Given the description of an element on the screen output the (x, y) to click on. 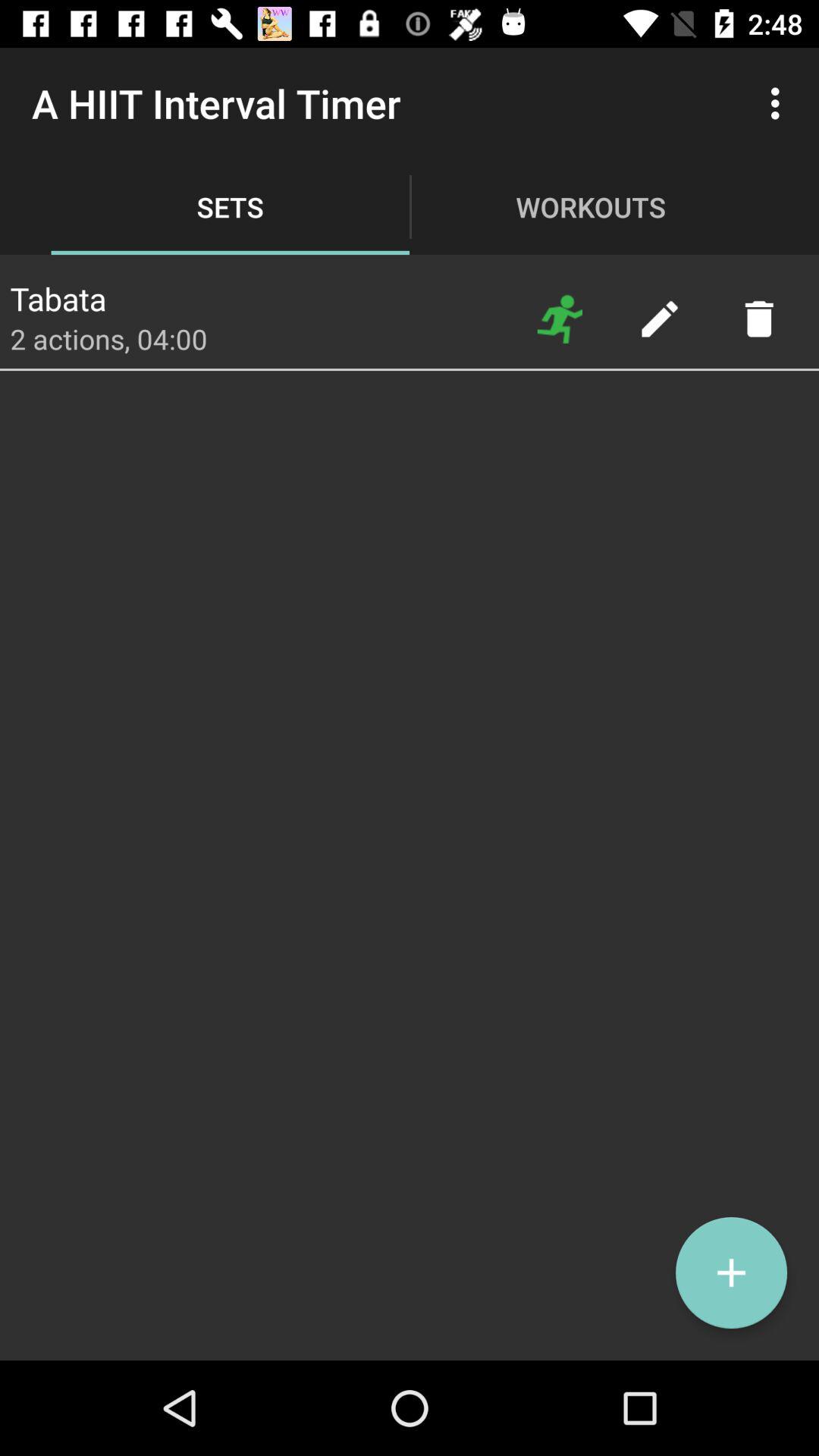
edit set (659, 318)
